Given the description of an element on the screen output the (x, y) to click on. 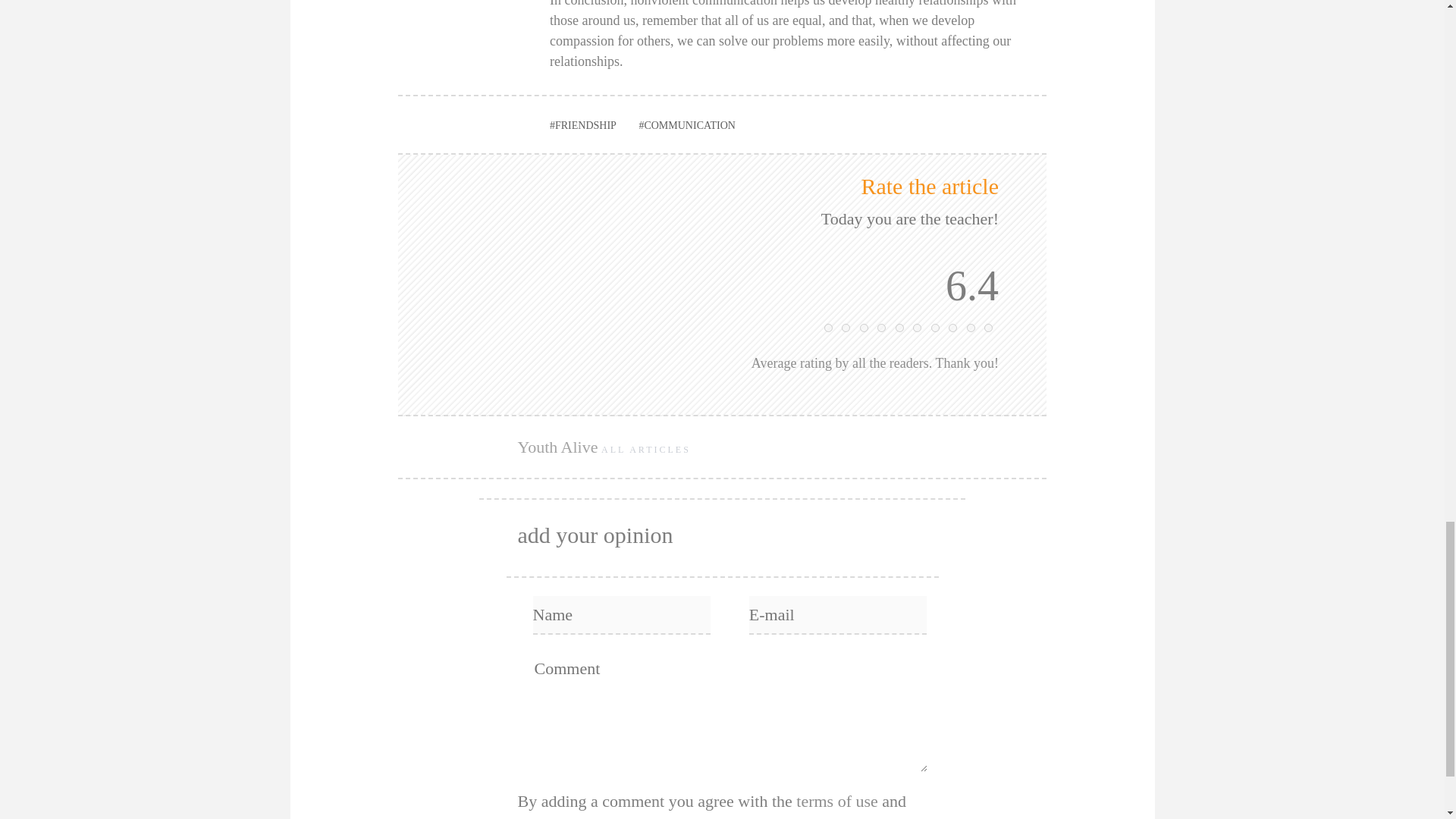
7 (935, 327)
7 (935, 327)
3 (863, 327)
8 (952, 327)
10 (988, 327)
5 (898, 327)
6 (916, 327)
9 (970, 327)
5 (898, 327)
8 (952, 327)
6 (916, 327)
9 (970, 327)
privacy policy (564, 817)
ALL ARTICLES (648, 449)
terms of use (836, 800)
